Given the description of an element on the screen output the (x, y) to click on. 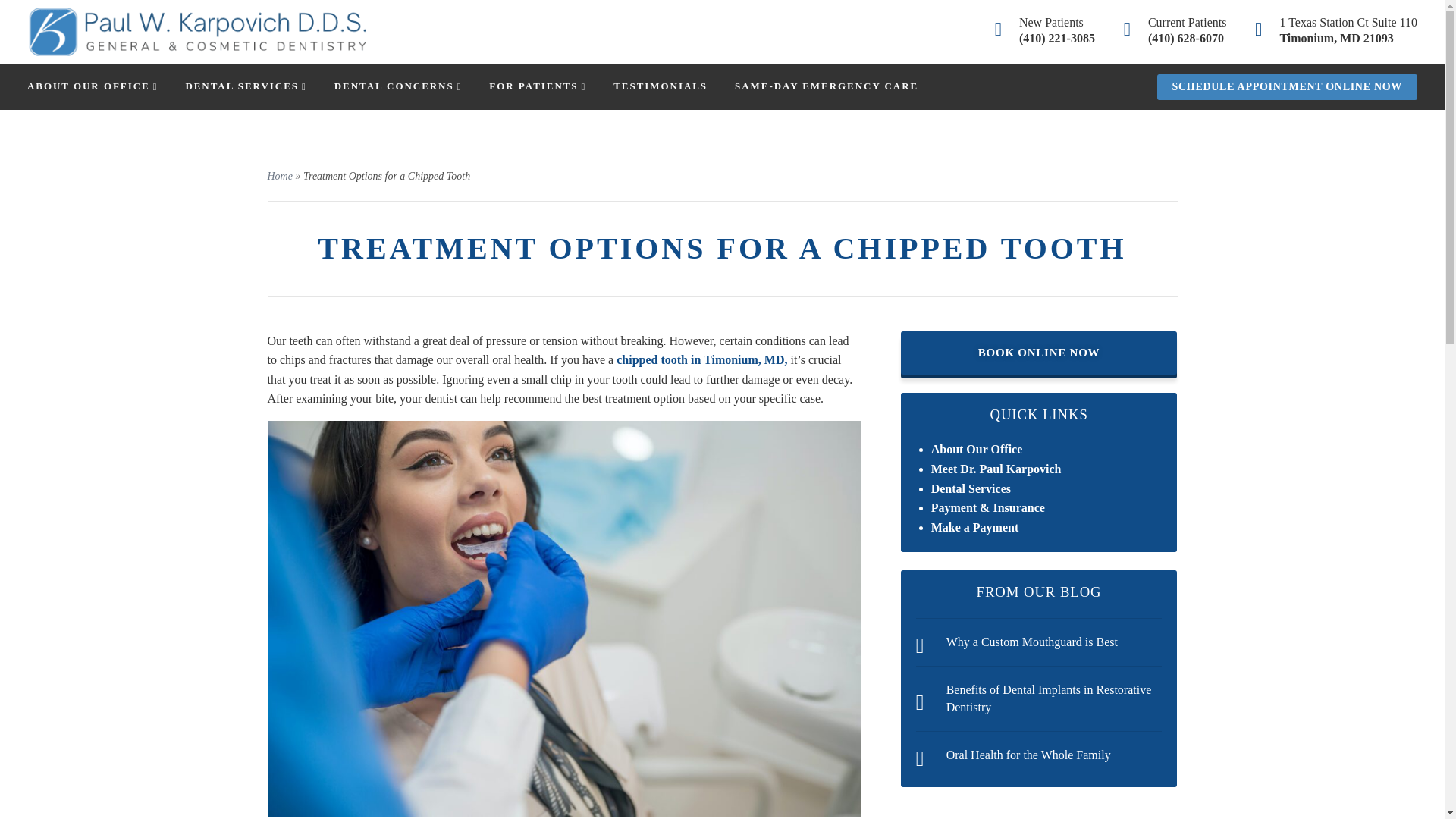
DENTAL CONCERNS (398, 85)
ABOUT OUR OFFICE (92, 85)
DENTAL SERVICES (244, 85)
FOR PATIENTS (537, 85)
